Given the description of an element on the screen output the (x, y) to click on. 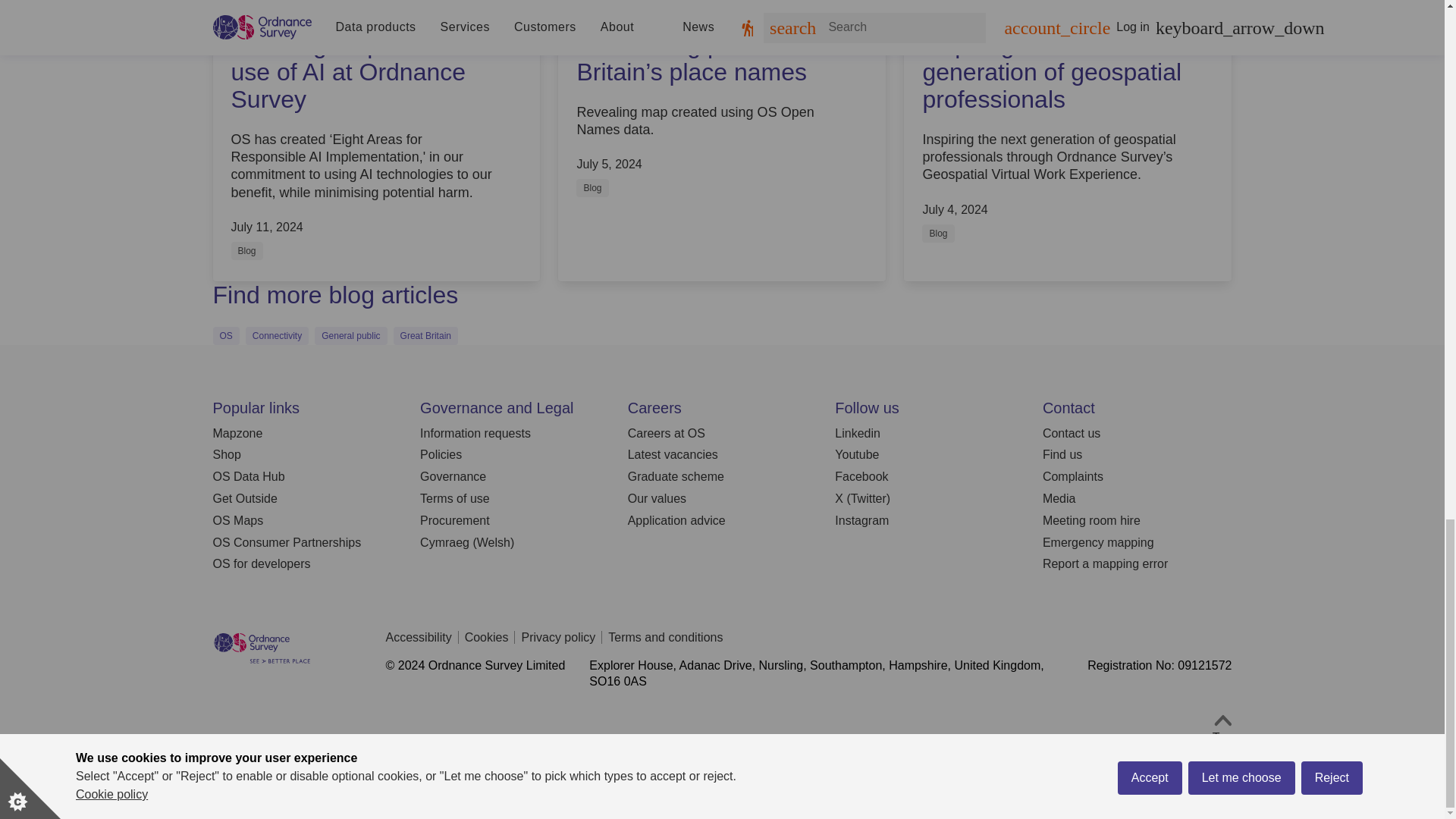
Great Britain (425, 335)
Mapzone (237, 432)
Shop (226, 454)
OS Data Hub (247, 476)
Connectivity (277, 335)
Inspiring the next generation of geospatial professionals (1053, 72)
Get Outside (244, 498)
General public (350, 335)
OS (225, 335)
OS Maps (237, 520)
Ensuring responsible use of AI at Ordnance Survey (362, 72)
Ordnance Survey home (261, 661)
